Given the description of an element on the screen output the (x, y) to click on. 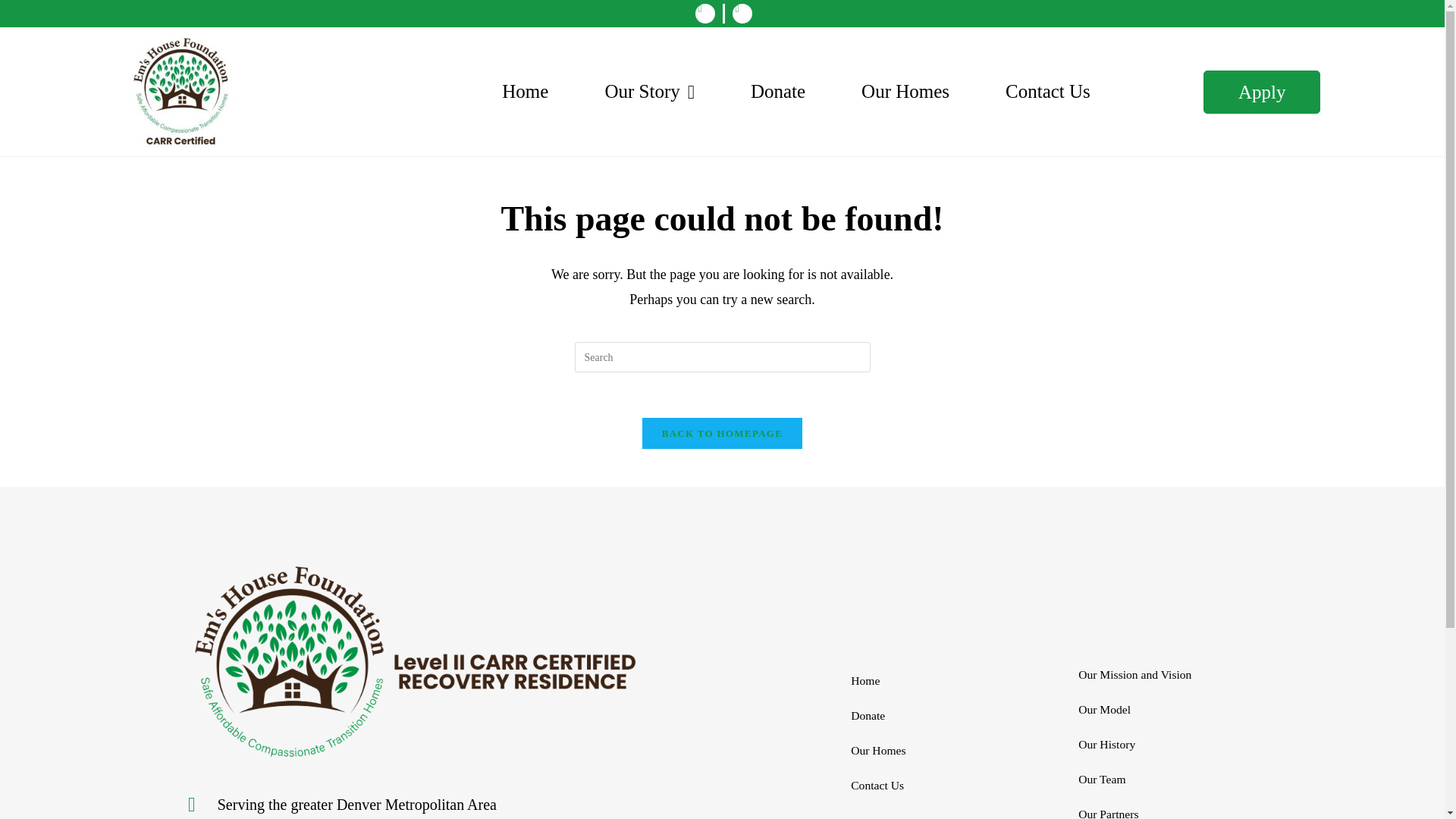
Our Homes (904, 91)
Donate (777, 91)
Home (525, 91)
Our Story (649, 91)
Apply (1262, 91)
Contact Us (1047, 91)
